Given the description of an element on the screen output the (x, y) to click on. 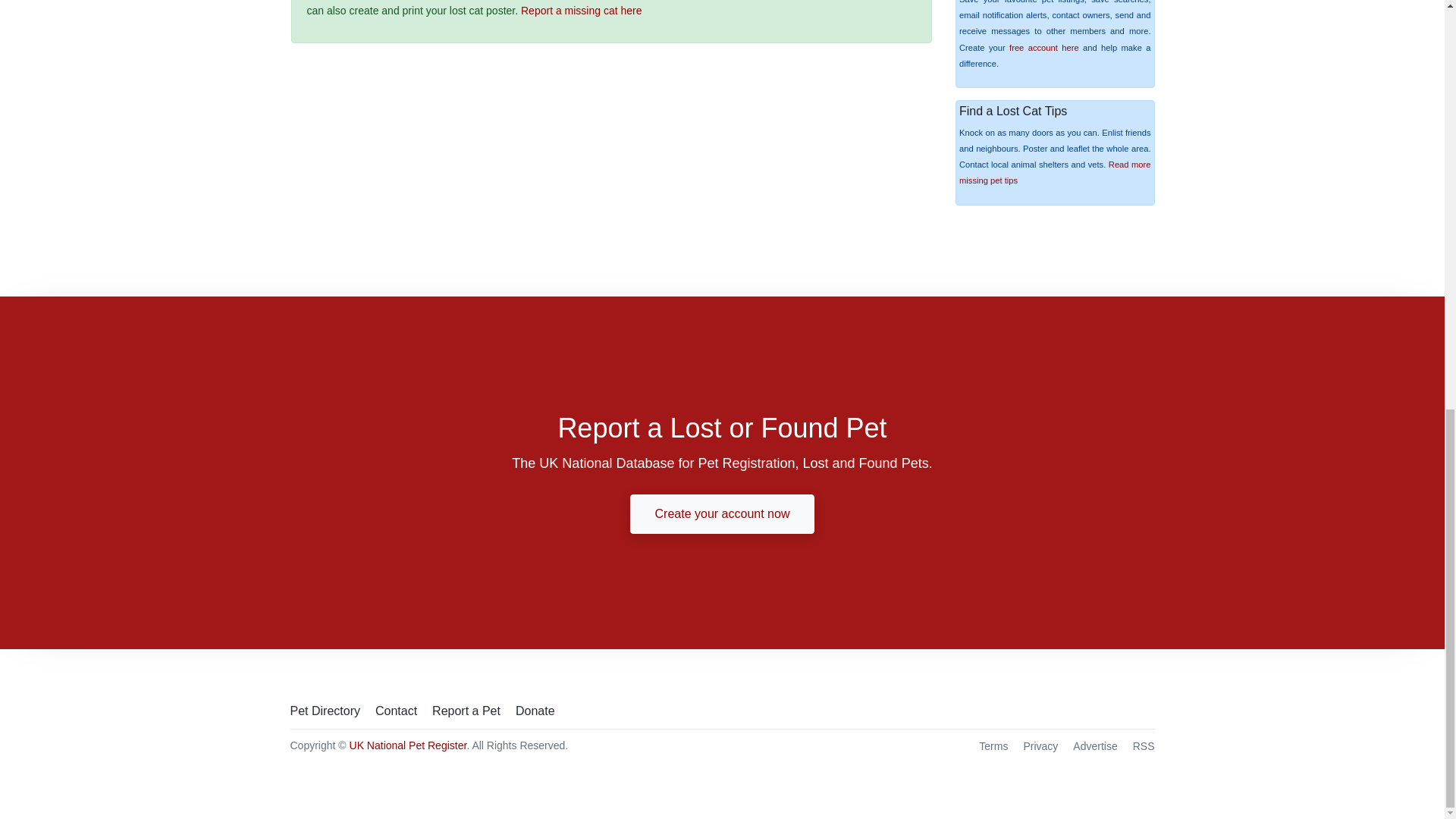
Report a missing cat here (581, 10)
Twitter (1144, 709)
Facebook (1115, 709)
